Given the description of an element on the screen output the (x, y) to click on. 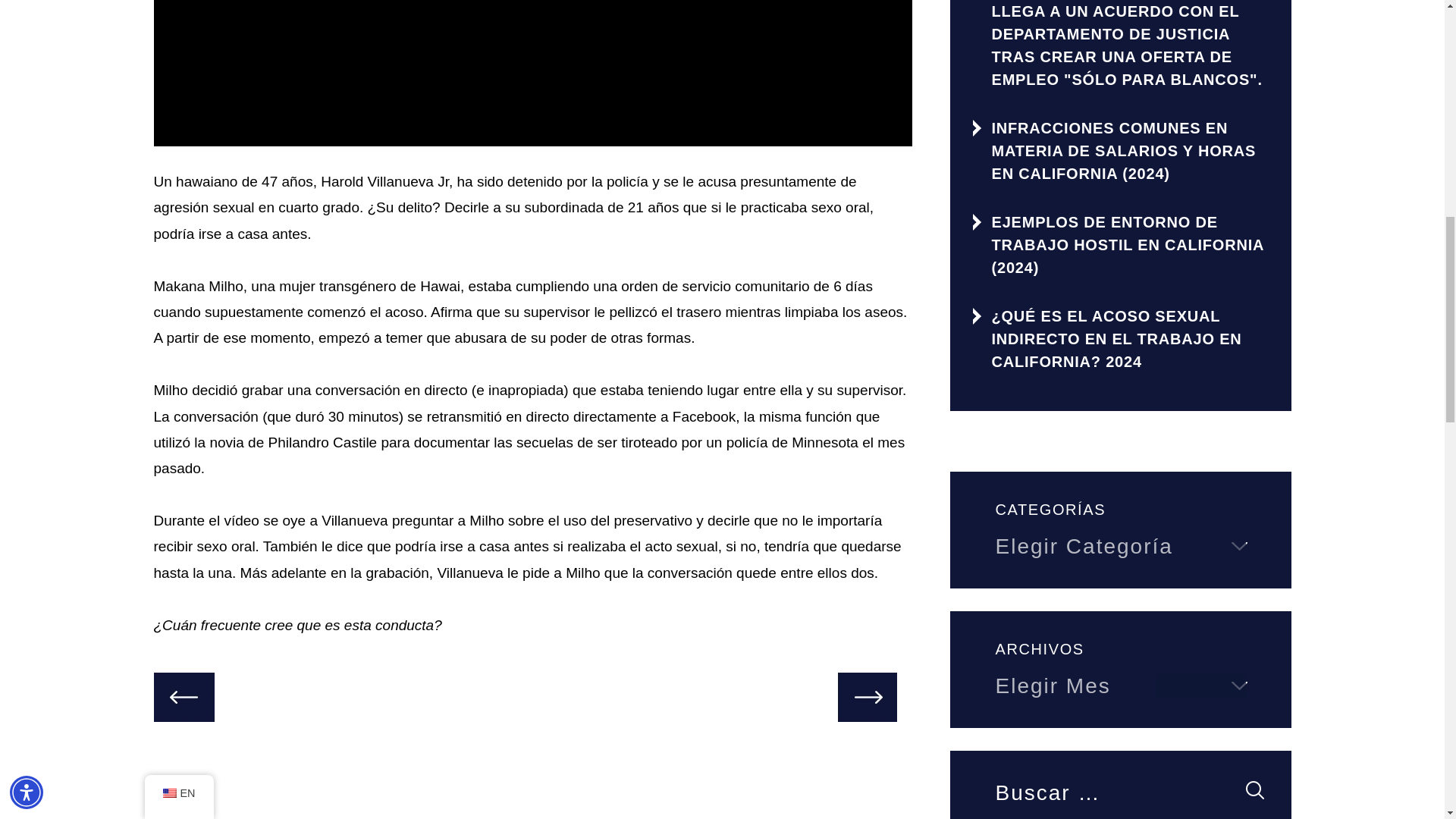
Buscar (1253, 790)
Buscar (1253, 790)
